Given the description of an element on the screen output the (x, y) to click on. 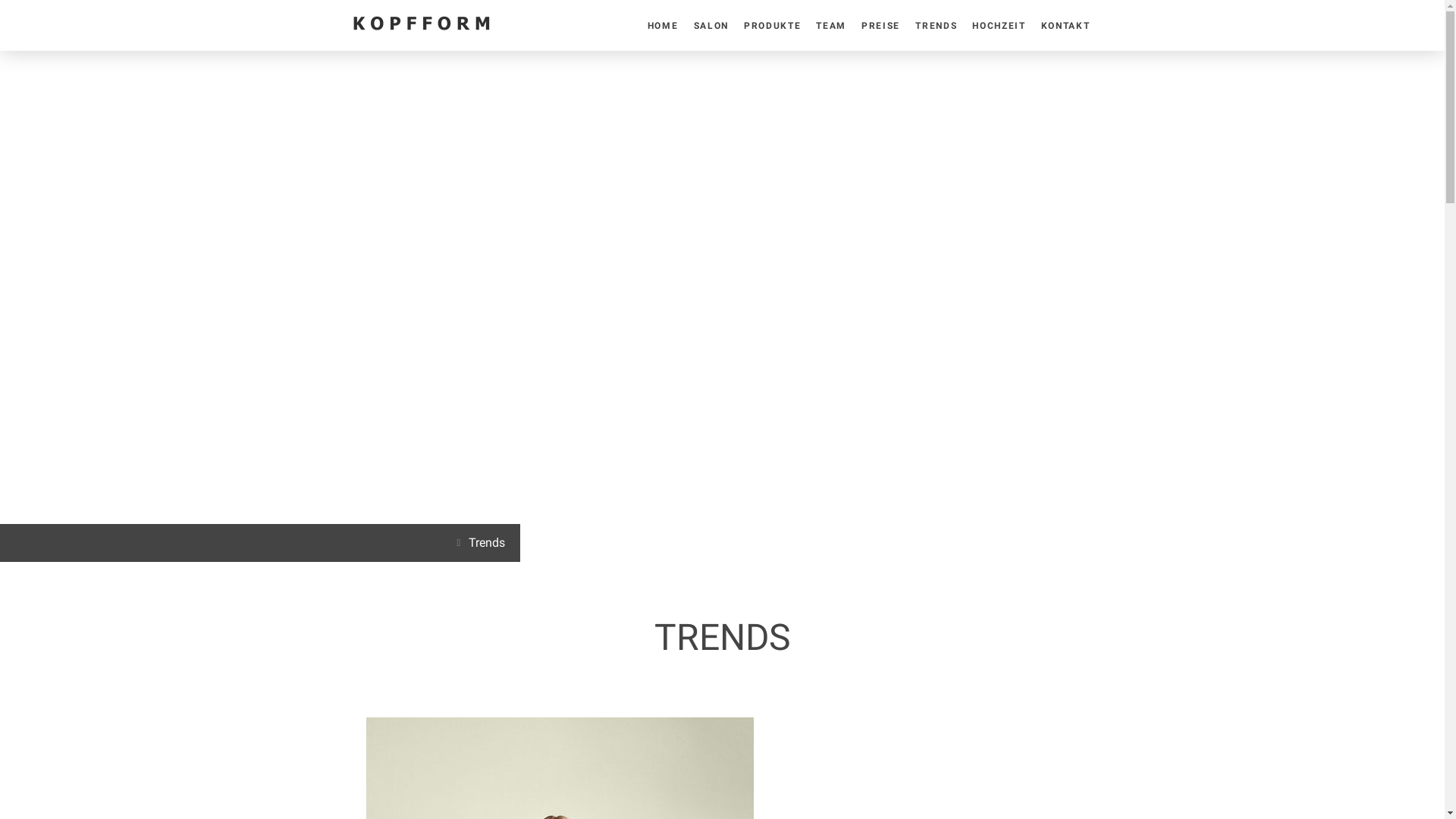
PREISE Element type: text (880, 24)
KONTAKT Element type: text (1065, 24)
HOCHZEIT Element type: text (998, 24)
TRENDS Element type: text (935, 24)
PRODUKTE Element type: text (772, 24)
TEAM Element type: text (830, 24)
HOME Element type: text (663, 24)
SALON Element type: text (710, 24)
Trends Element type: text (482, 542)
